Given the description of an element on the screen output the (x, y) to click on. 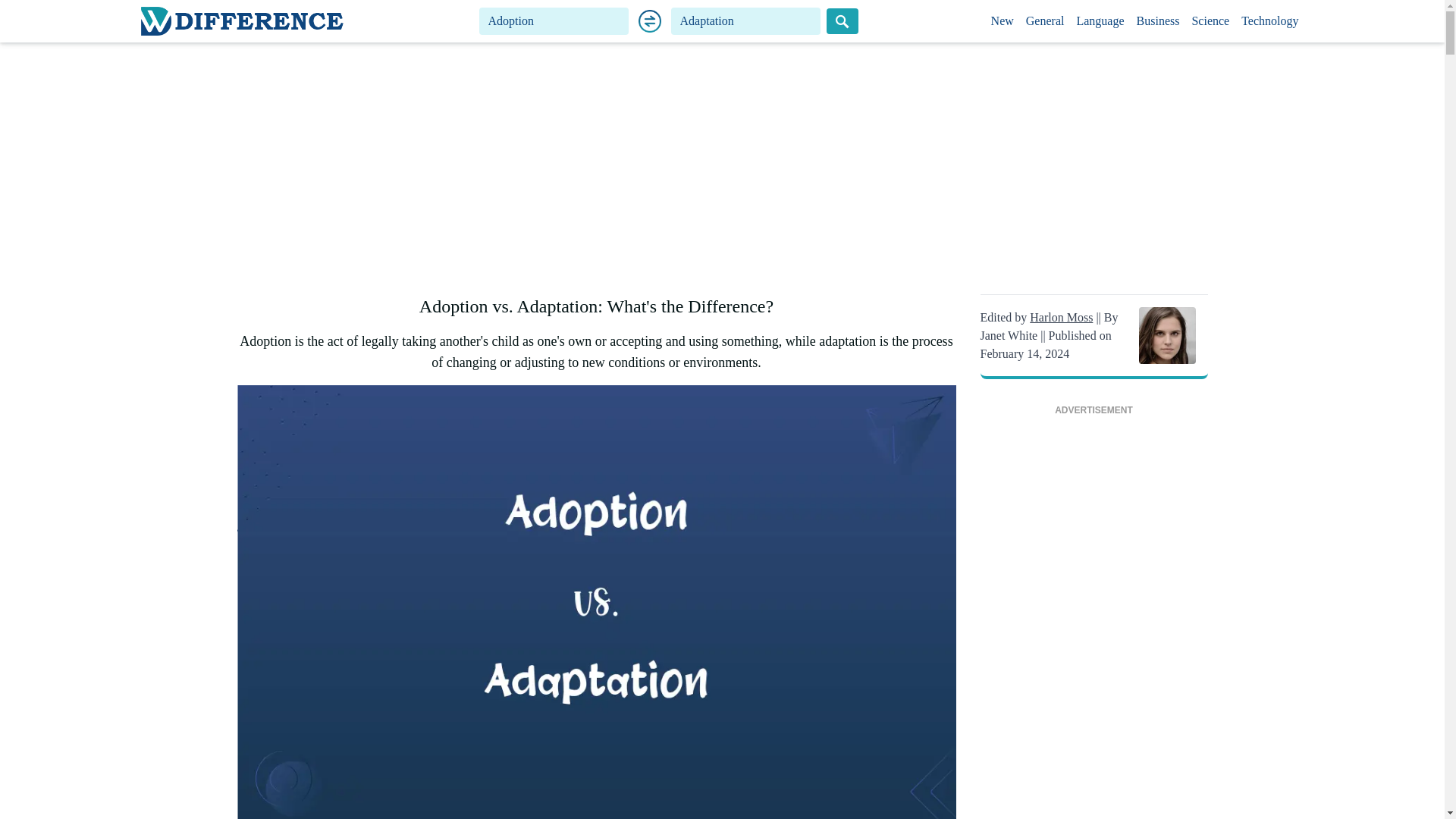
Adoption (553, 21)
New (1002, 21)
Language (1099, 21)
Science (1209, 21)
Adaptation (746, 21)
General (1045, 21)
Technology (1269, 21)
Business (1158, 21)
